Given the description of an element on the screen output the (x, y) to click on. 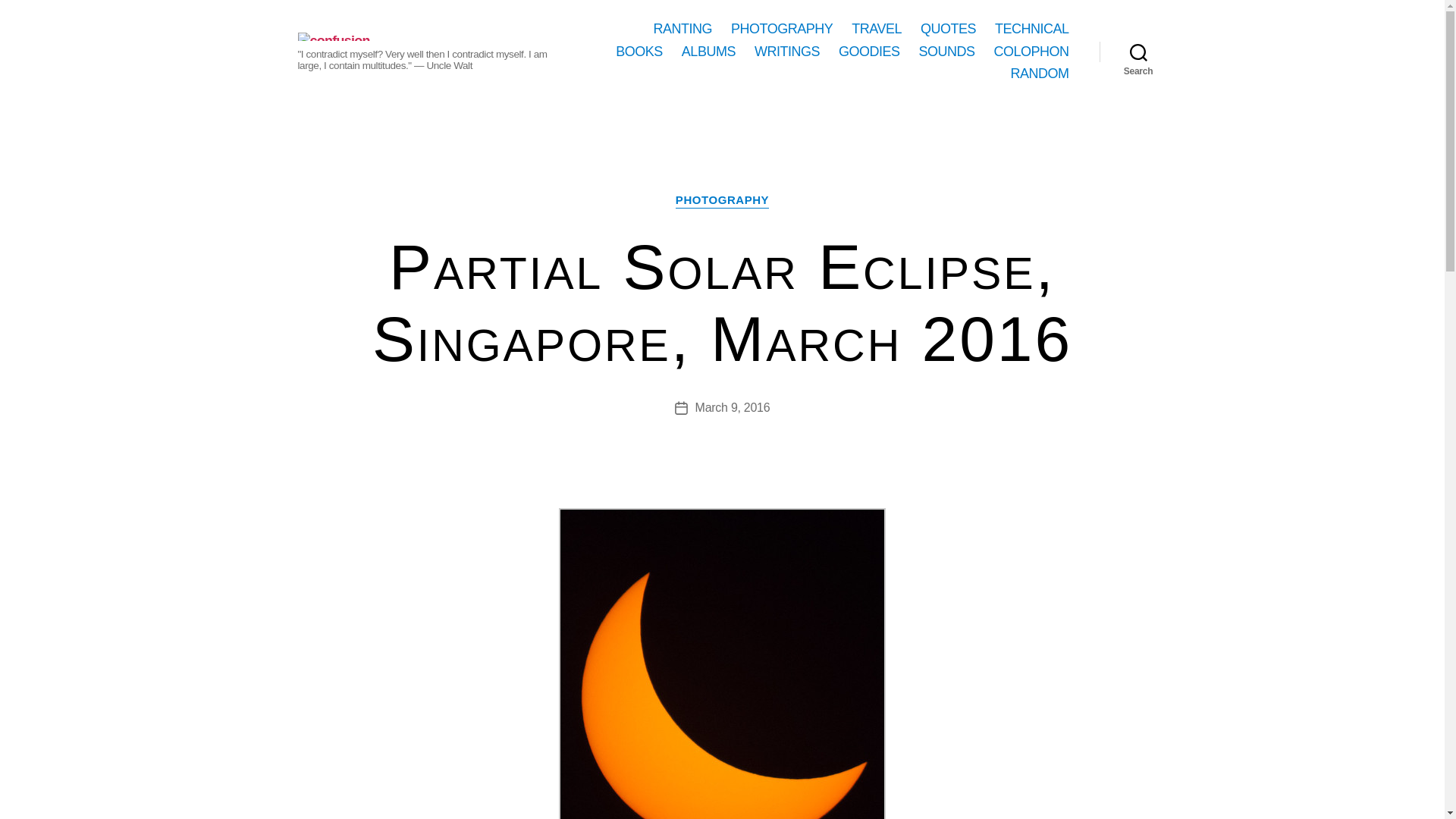
ALBUMS (708, 52)
TECHNICAL (1031, 29)
Search (1138, 51)
RANDOM (1039, 74)
COLOPHON (1030, 52)
BOOKS (638, 52)
RANTING (683, 29)
PHOTOGRAPHY (781, 29)
March 9, 2016 (732, 407)
QUOTES (947, 29)
